Given the description of an element on the screen output the (x, y) to click on. 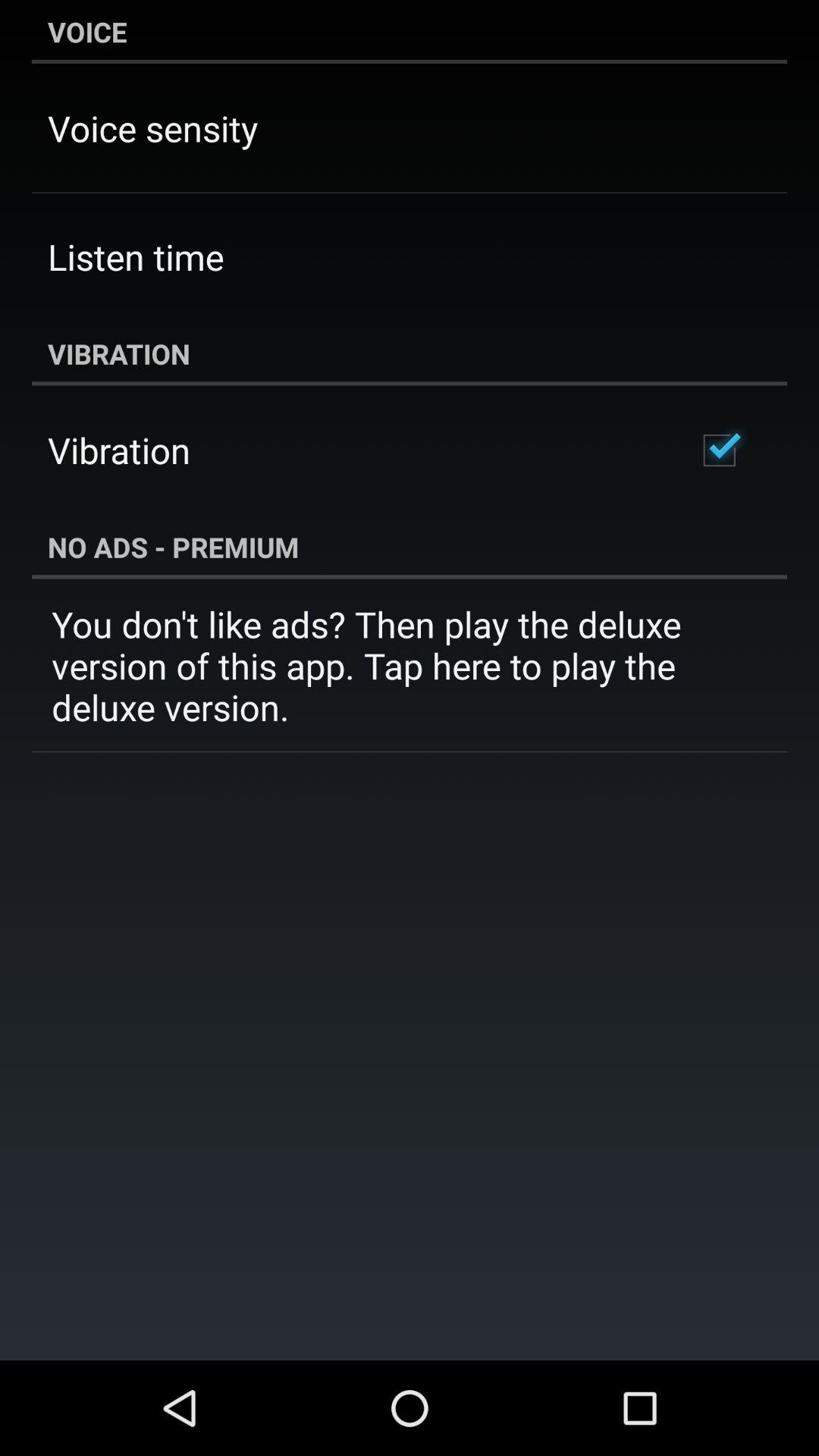
turn off the app below voice sensity item (135, 256)
